Given the description of an element on the screen output the (x, y) to click on. 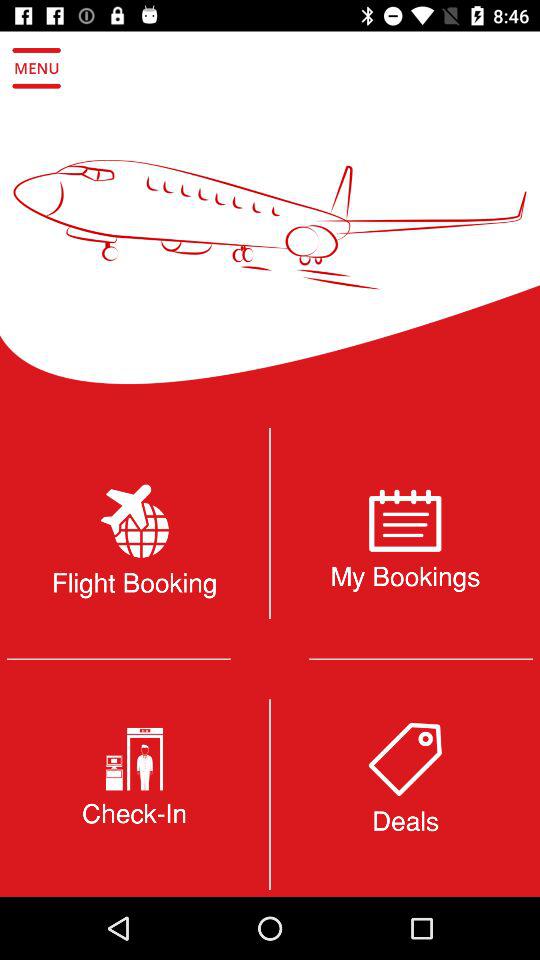
open the menu (36, 68)
